Given the description of an element on the screen output the (x, y) to click on. 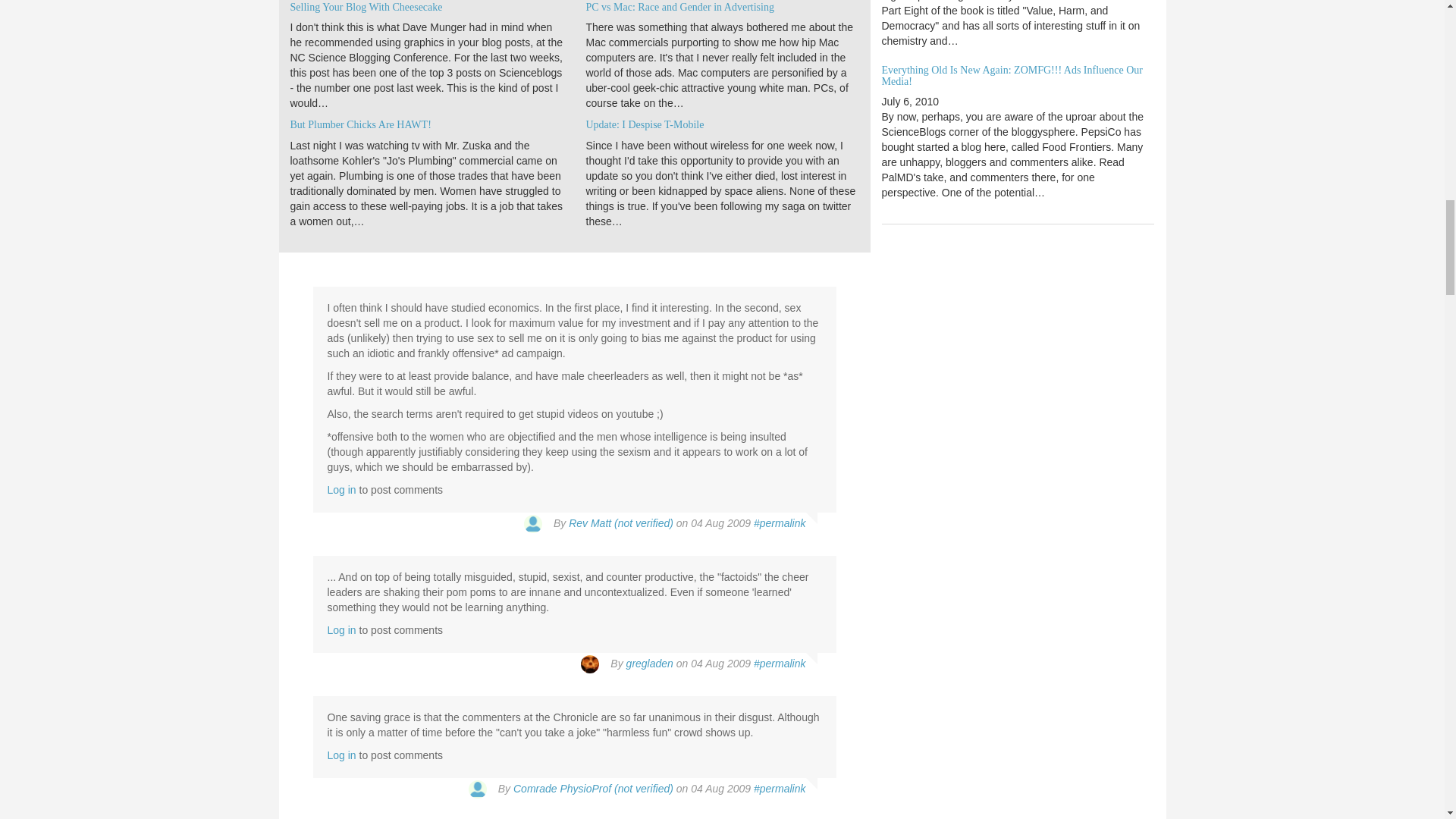
Selling Your Blog With Cheesecake (365, 7)
PC vs Mac: Race and Gender in Advertising (679, 7)
Log in (341, 490)
Update: I Despise T-Mobile (644, 124)
View user profile. (649, 663)
But Plumber Chicks Are HAWT! (359, 124)
